Given the description of an element on the screen output the (x, y) to click on. 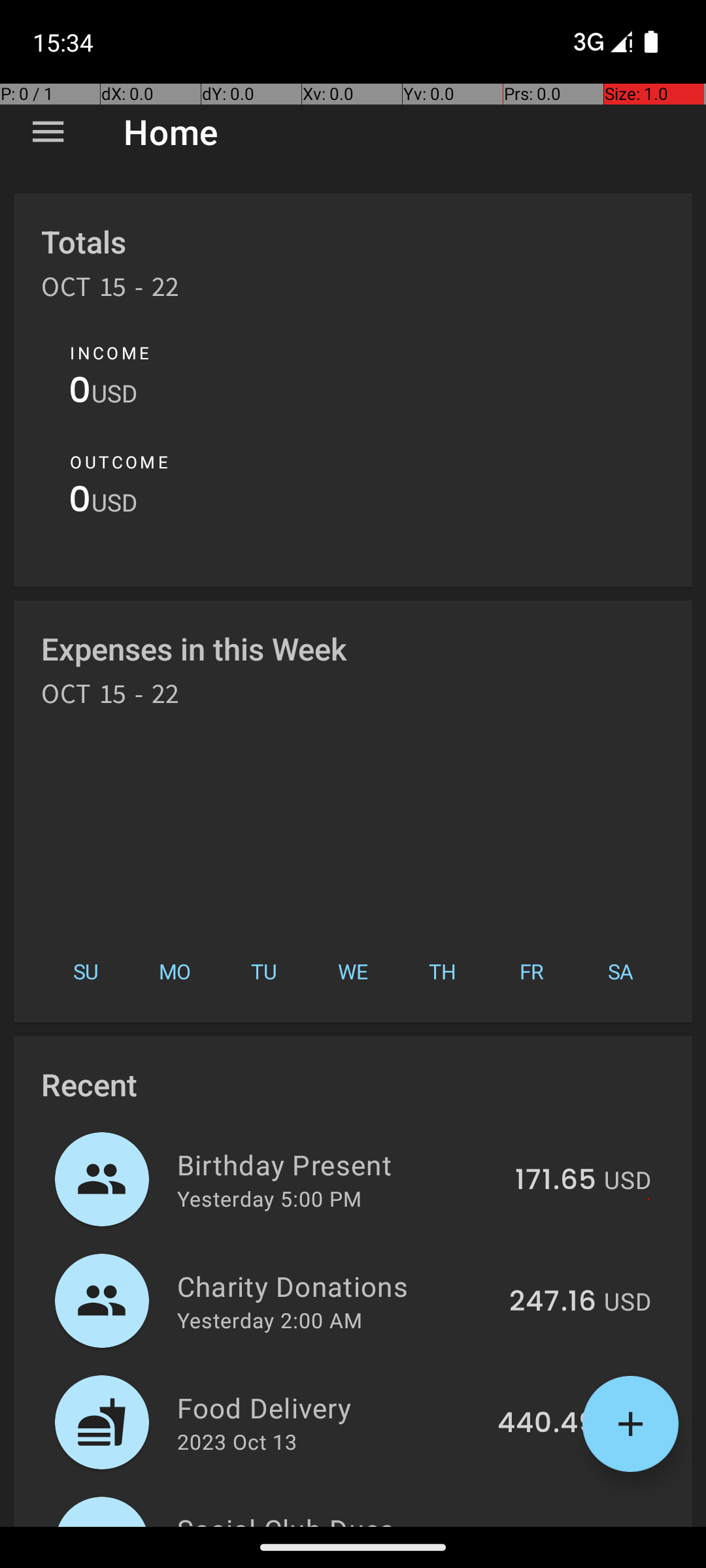
Birthday Present Element type: android.widget.TextView (338, 1164)
Yesterday 5:00 PM Element type: android.widget.TextView (269, 1198)
171.65 Element type: android.widget.TextView (555, 1180)
Charity Donations Element type: android.widget.TextView (335, 1285)
Yesterday 2:00 AM Element type: android.widget.TextView (269, 1320)
247.16 Element type: android.widget.TextView (552, 1301)
Food Delivery Element type: android.widget.TextView (329, 1407)
440.49 Element type: android.widget.TextView (546, 1423)
Social Club Dues Element type: android.widget.TextView (332, 1518)
373.43 Element type: android.widget.TextView (549, 1524)
